Given the description of an element on the screen output the (x, y) to click on. 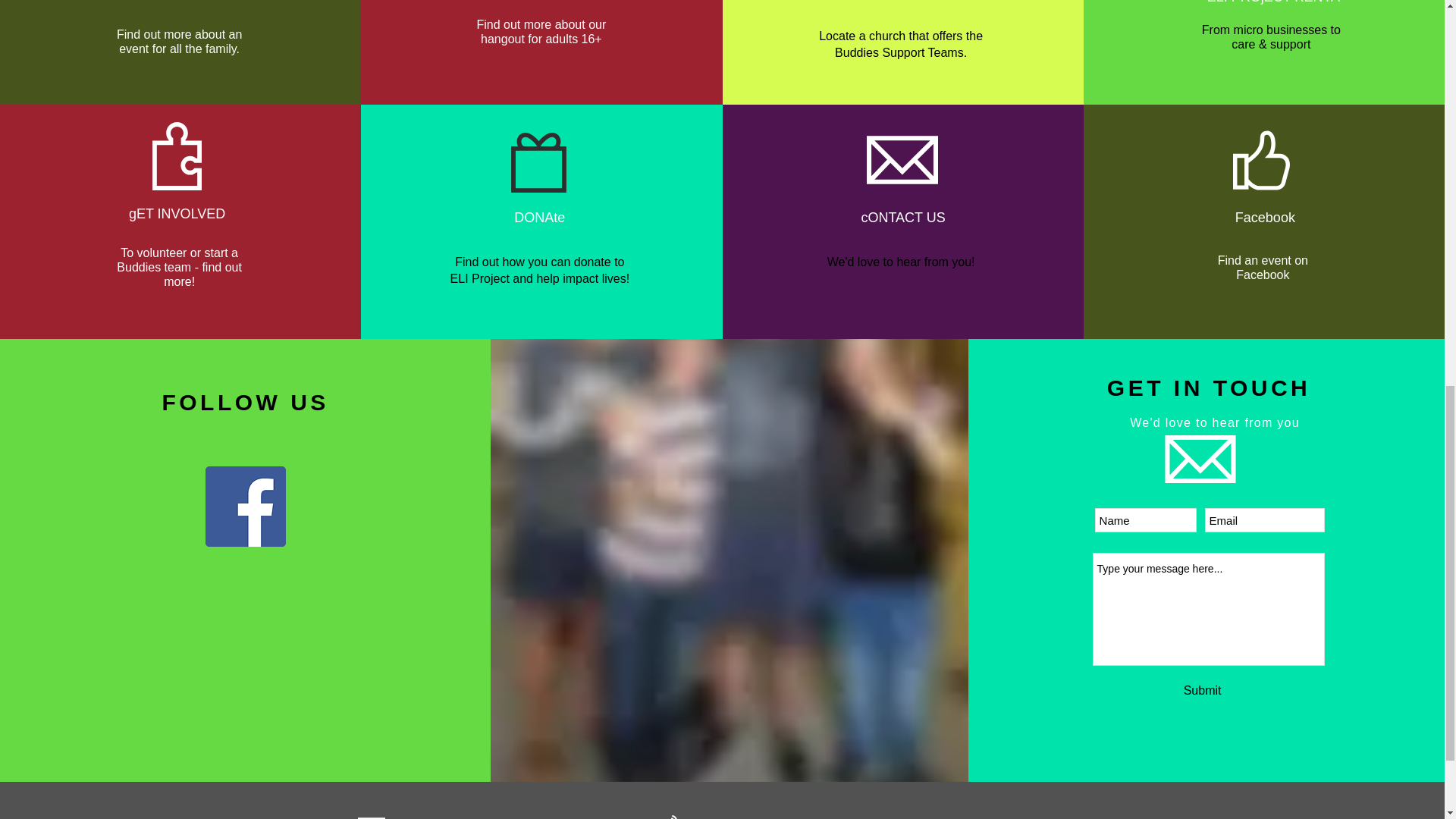
Facebook (1264, 217)
ELI PROjECT KENYA (1273, 2)
DONAte (538, 217)
Submit (1202, 690)
Locate a church that offers the Buddies Support Teams. (900, 43)
gET INVOLVED (177, 213)
Find an event on Facebook (1262, 268)
Find out more about an event for all the family. (178, 42)
To volunteer or start a Buddies team - find out more! (178, 268)
